Given the description of an element on the screen output the (x, y) to click on. 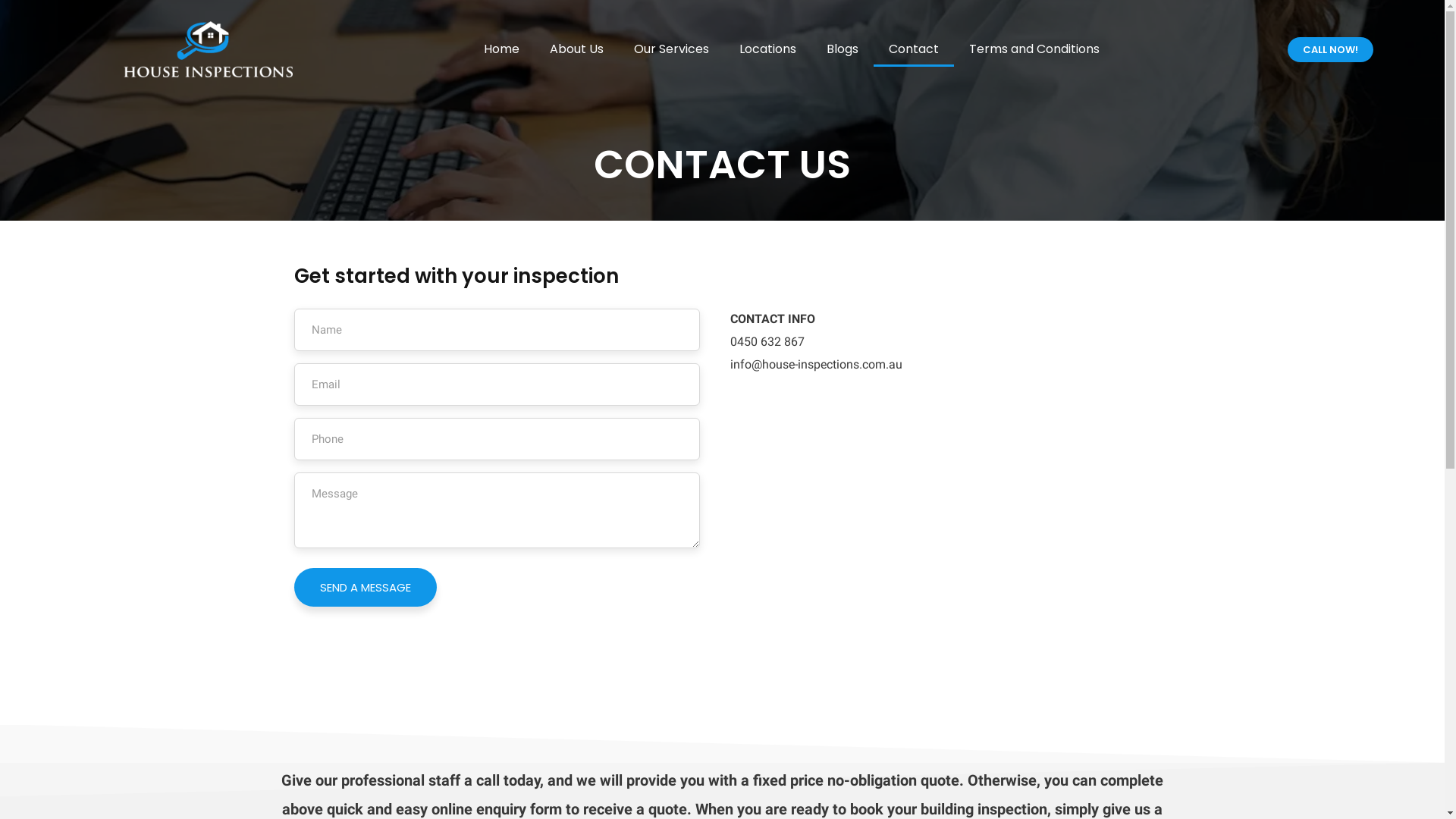
Our Services Element type: text (671, 48)
SEND A MESSAGE Element type: text (365, 586)
Blogs Element type: text (842, 48)
Terms and Conditions Element type: text (1033, 48)
Home Element type: text (501, 48)
About Us Element type: text (576, 48)
Contact Element type: text (913, 48)
CALL NOW! Element type: text (1330, 49)
Locations Element type: text (767, 48)
